Given the description of an element on the screen output the (x, y) to click on. 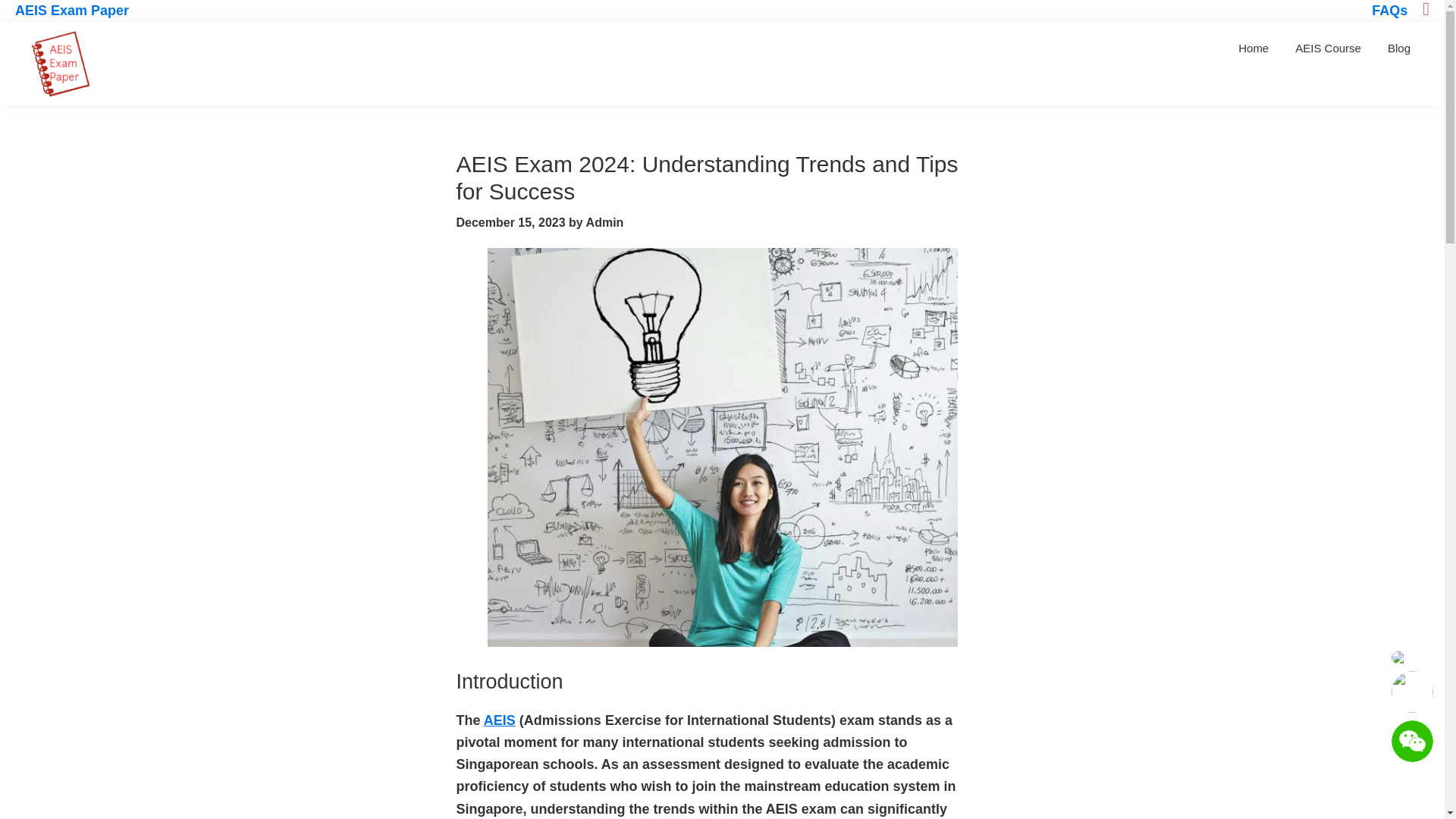
Home (1253, 48)
FAQs (1389, 11)
AEIS Course (1328, 48)
AEIS Exam Paper (71, 10)
Blog (1398, 48)
AEIS (499, 720)
